Given the description of an element on the screen output the (x, y) to click on. 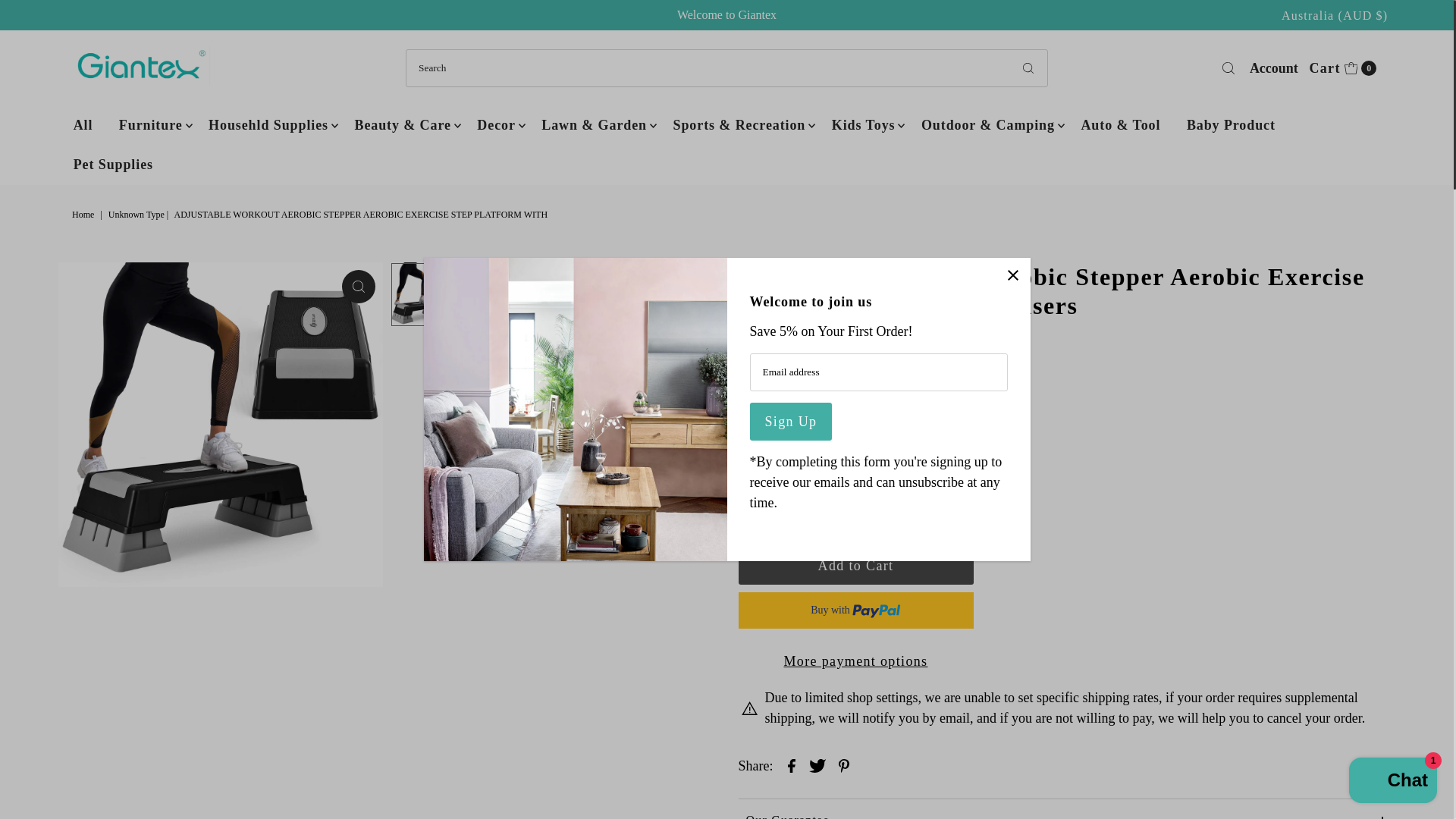
Sign Up (790, 421)
Furniture (150, 125)
All (83, 125)
Home (84, 214)
Account (1273, 67)
Share on Twitter (817, 763)
Share on Facebook (791, 763)
Add to Cart (856, 565)
Share on Pinterest (844, 763)
Click to zoom (358, 286)
